Given the description of an element on the screen output the (x, y) to click on. 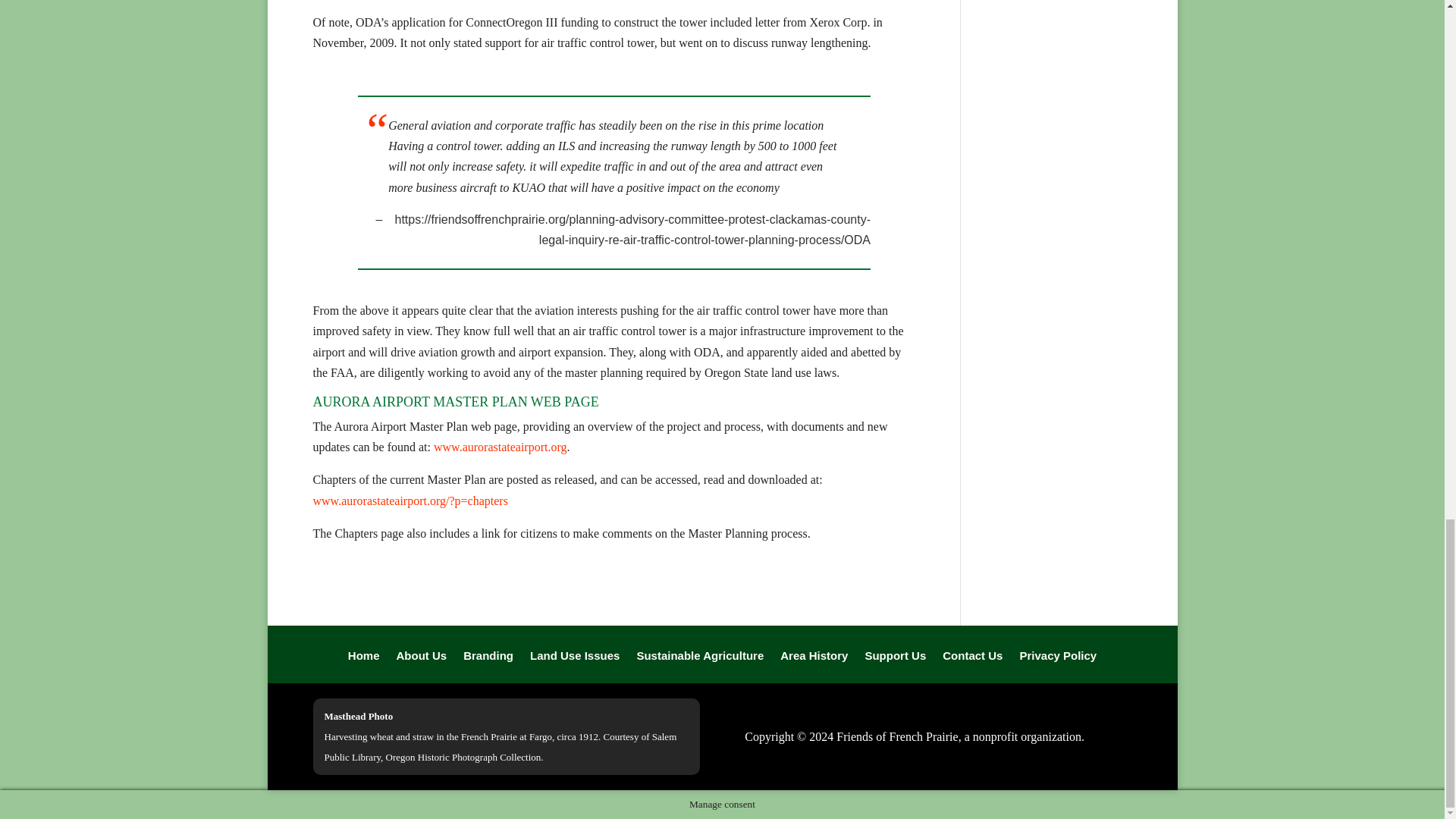
www.aurorastateairport.org (500, 446)
Home (363, 666)
About Us (421, 666)
